Given the description of an element on the screen output the (x, y) to click on. 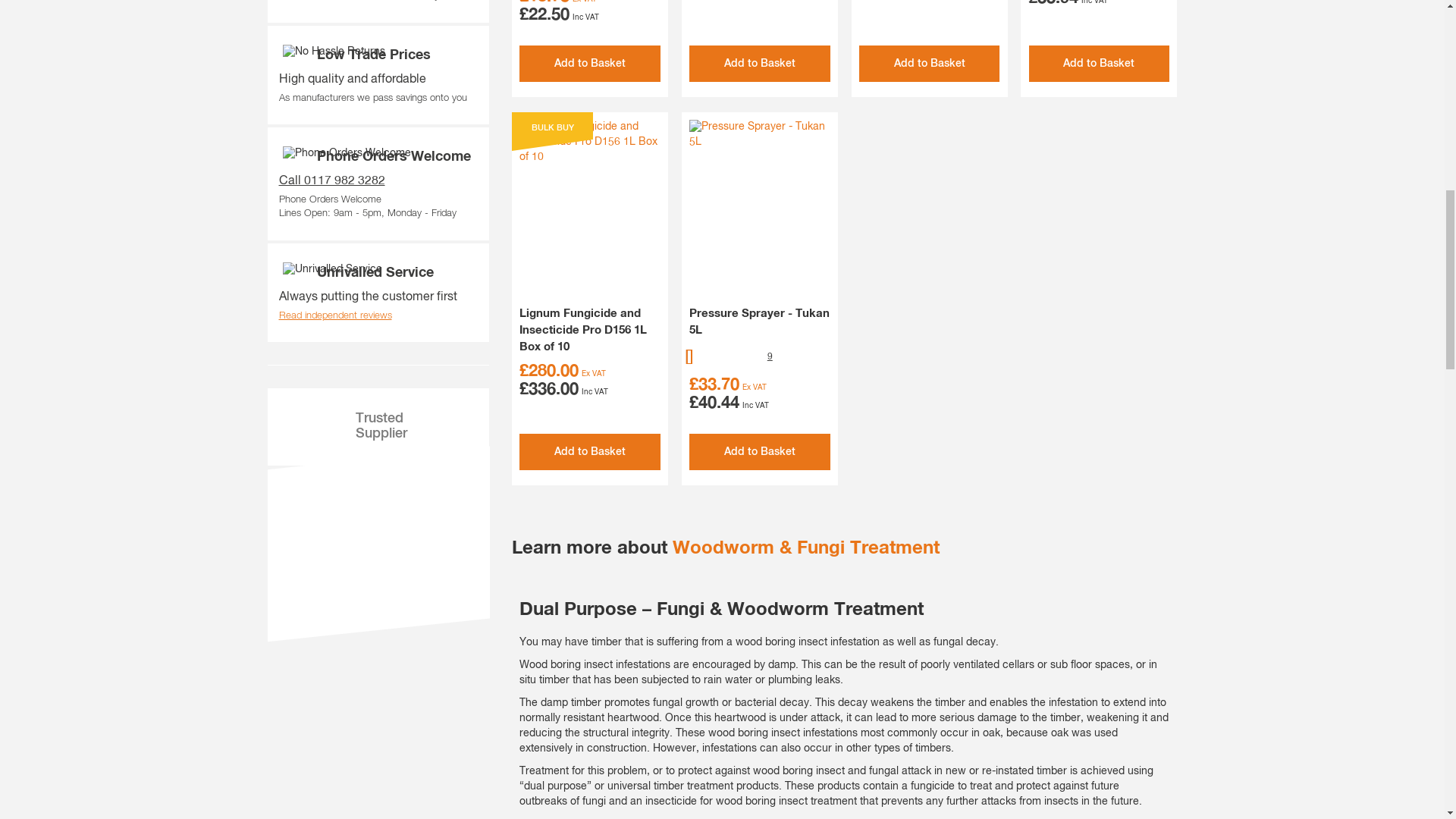
Add to Basket (590, 452)
Add to Basket (758, 452)
Add to Basket (929, 63)
Add to Basket (590, 63)
Add to Basket (1099, 63)
Add to Basket (758, 63)
